Given the description of an element on the screen output the (x, y) to click on. 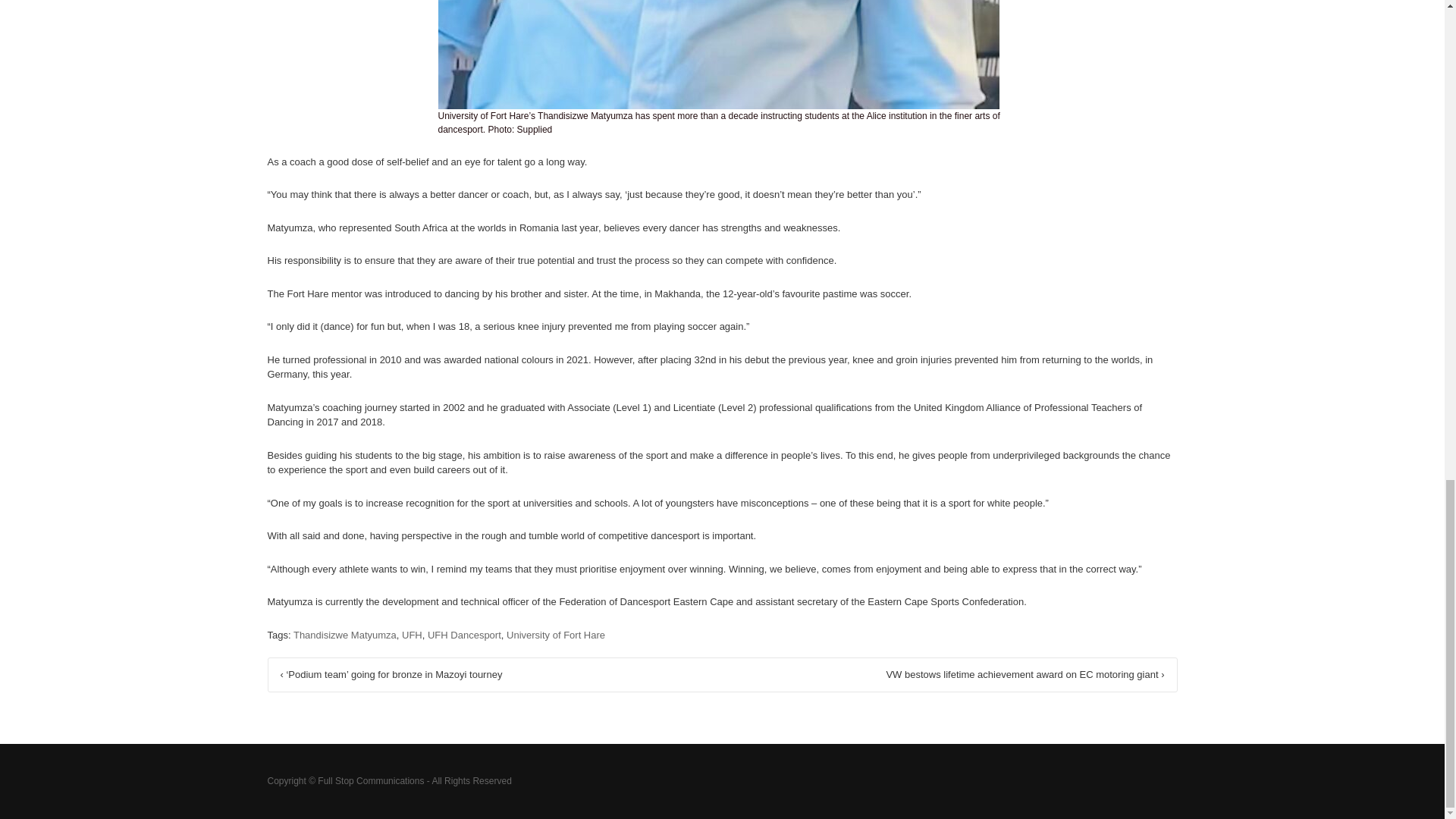
UFH (411, 633)
Eastern Cape (702, 601)
Thandisizwe Matyumza (345, 633)
UFH Dancesport (464, 633)
University of Fort Hare (555, 633)
